Given the description of an element on the screen output the (x, y) to click on. 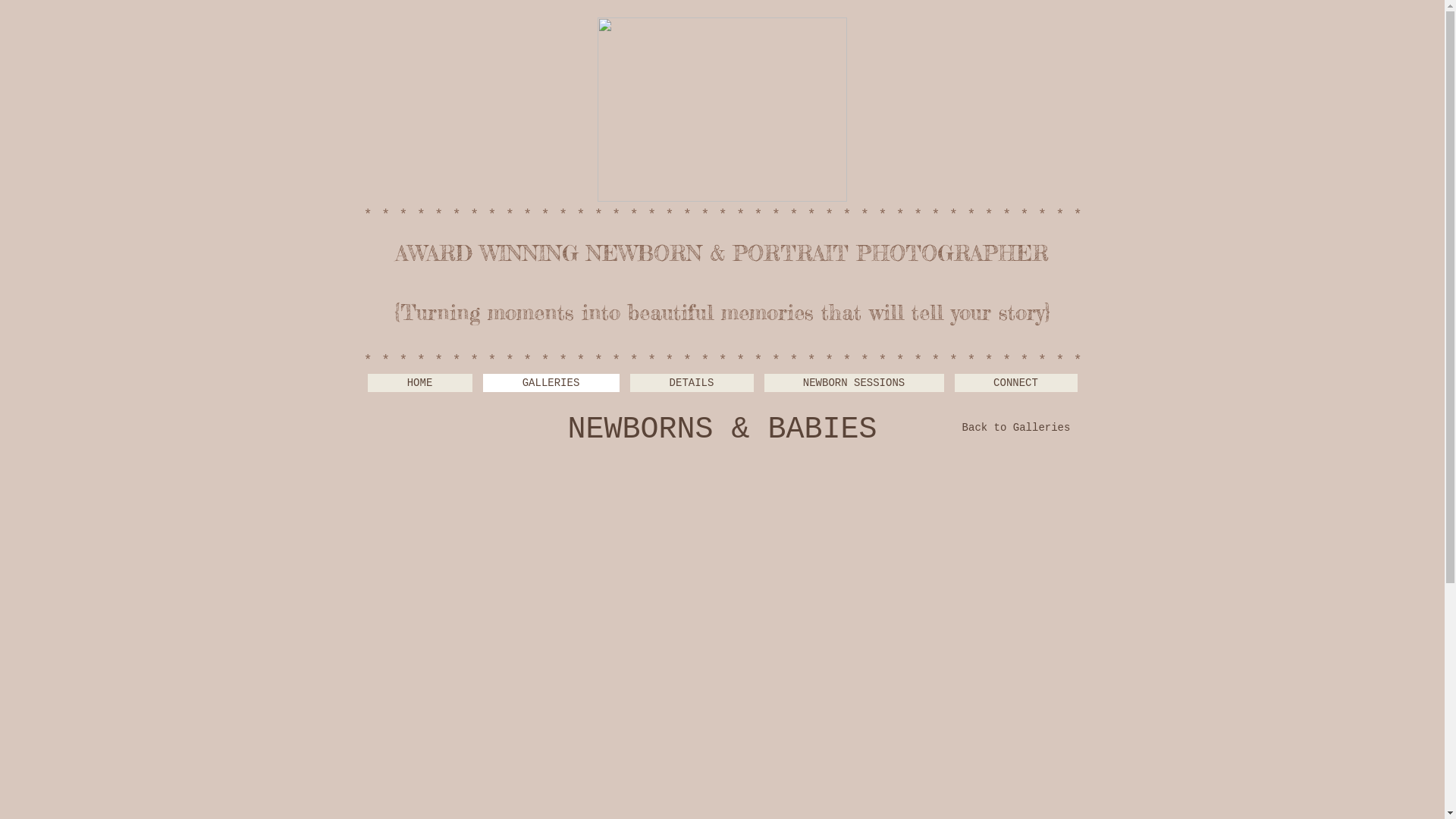
Back to Galleries Element type: text (1016, 428)
NEWBORN SESSIONS Element type: text (853, 382)
HOME Element type: text (419, 382)
CONNECT Element type: text (1015, 382)
dzphotography.png Element type: hover (722, 109)
DETAILS Element type: text (690, 382)
GALLERIES Element type: text (550, 382)
